Given the description of an element on the screen output the (x, y) to click on. 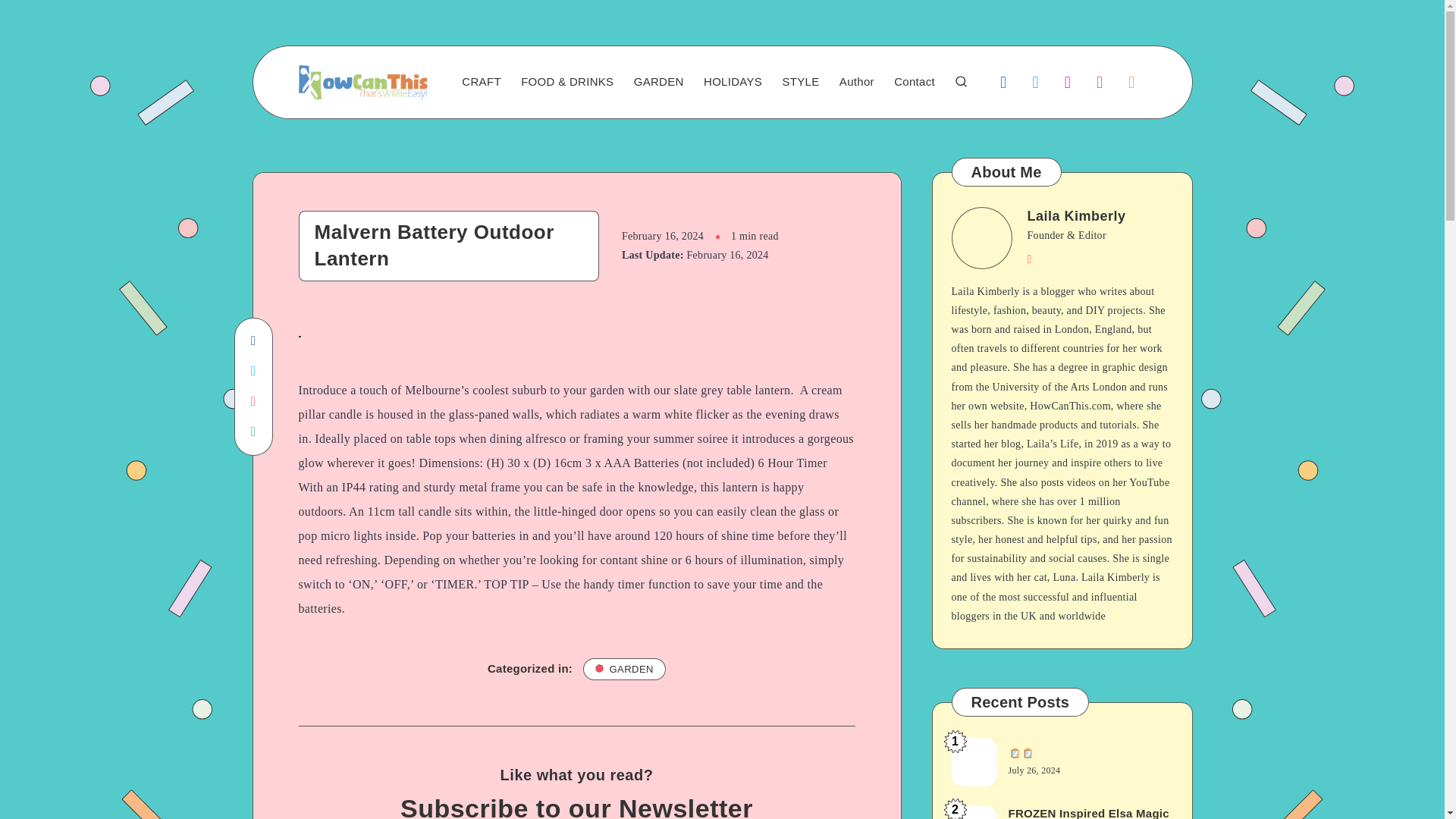
GARDEN (624, 669)
Author (857, 82)
HOLIDAYS (732, 82)
GARDEN (658, 82)
Contact (913, 82)
STYLE (799, 82)
CRAFT (480, 82)
